Given the description of an element on the screen output the (x, y) to click on. 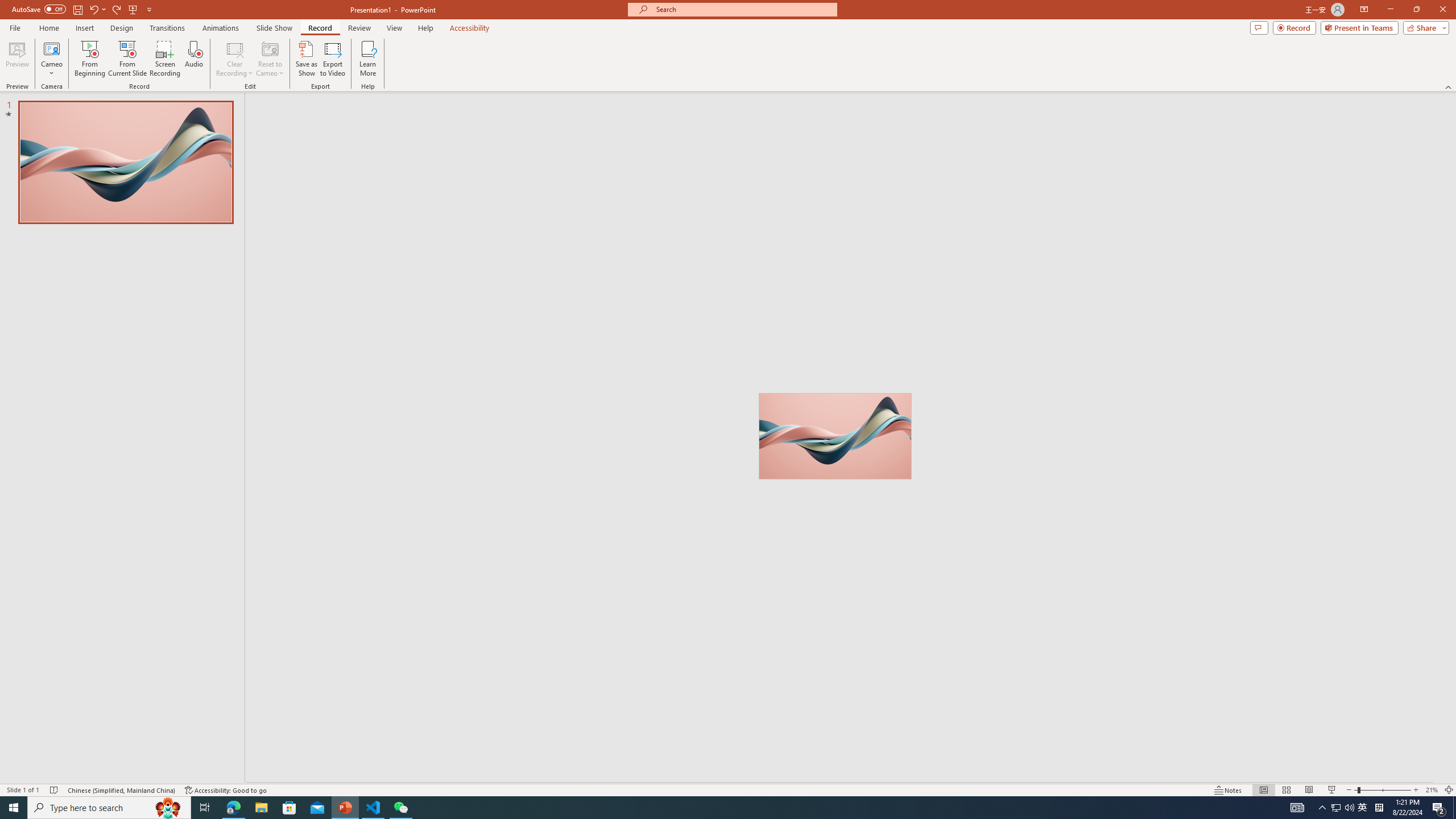
Zoom 21% (1431, 790)
Export to Video (332, 58)
Accessibility Checker Accessibility: Good to go (226, 790)
Learn More (368, 58)
